Given the description of an element on the screen output the (x, y) to click on. 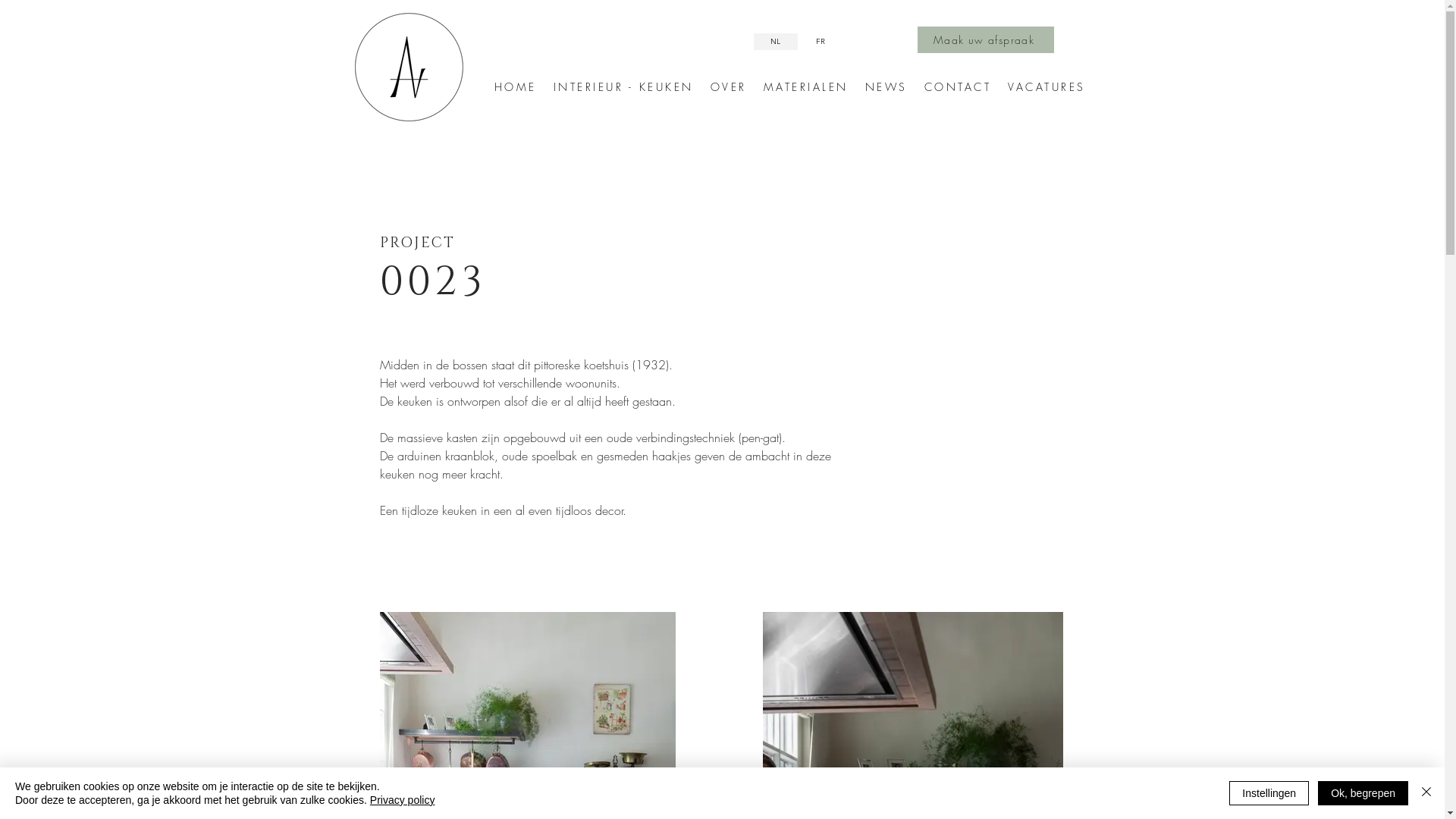
OVER Element type: text (727, 86)
NEWS Element type: text (885, 86)
INTERIEUR - KEUKEN Element type: text (623, 86)
HOME Element type: text (515, 86)
VACATURES Element type: text (1046, 86)
Maak uw afspraak Element type: text (985, 39)
CONTACT Element type: text (957, 86)
